Given the description of an element on the screen output the (x, y) to click on. 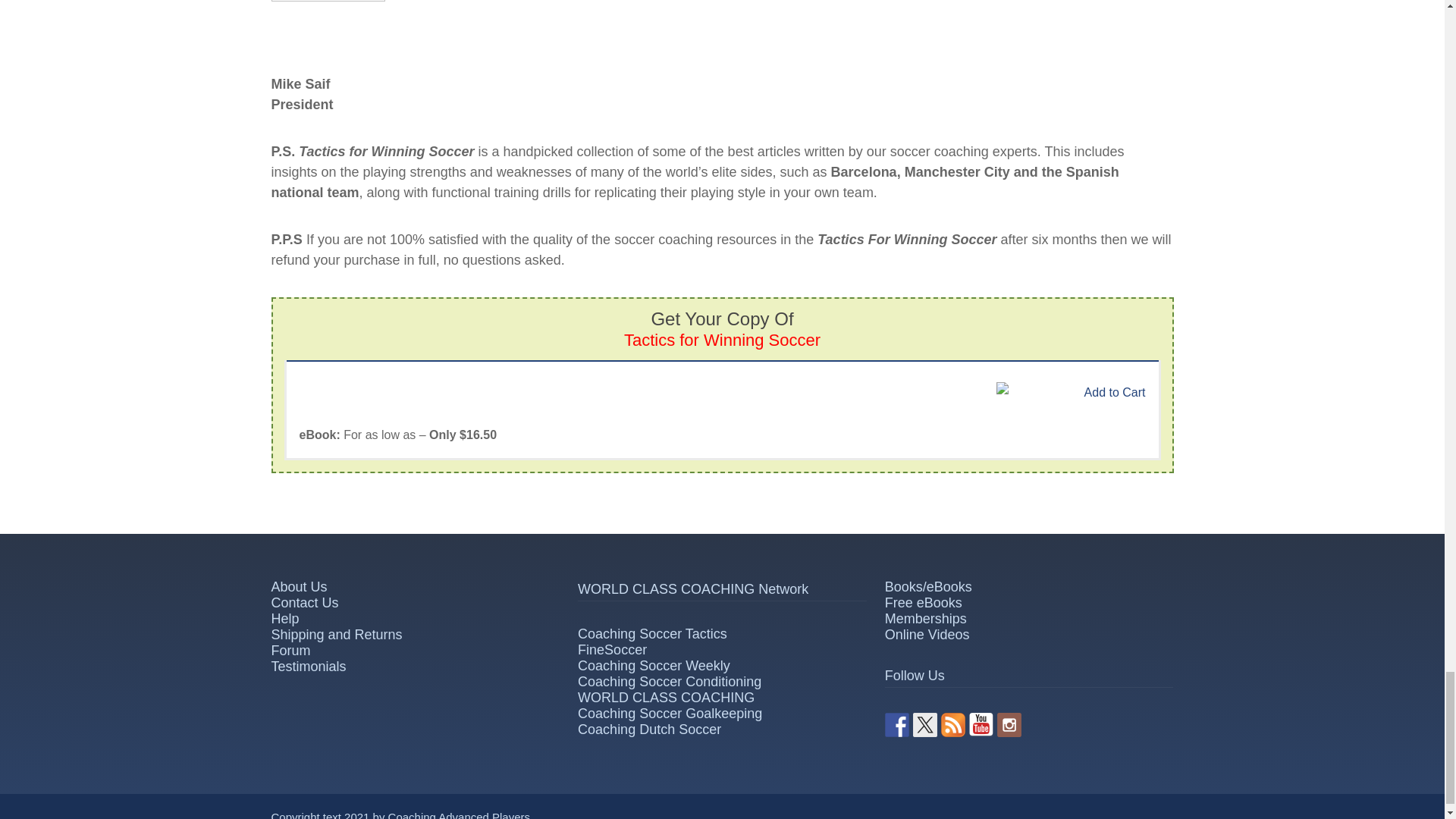
Find us on YouTube (980, 724)
Follow us on Facebook (896, 724)
Check out our instagram feed (1009, 724)
Follow us on Twitter (924, 724)
signature (327, 23)
Subscribe to our RSS Feed (952, 724)
